Given the description of an element on the screen output the (x, y) to click on. 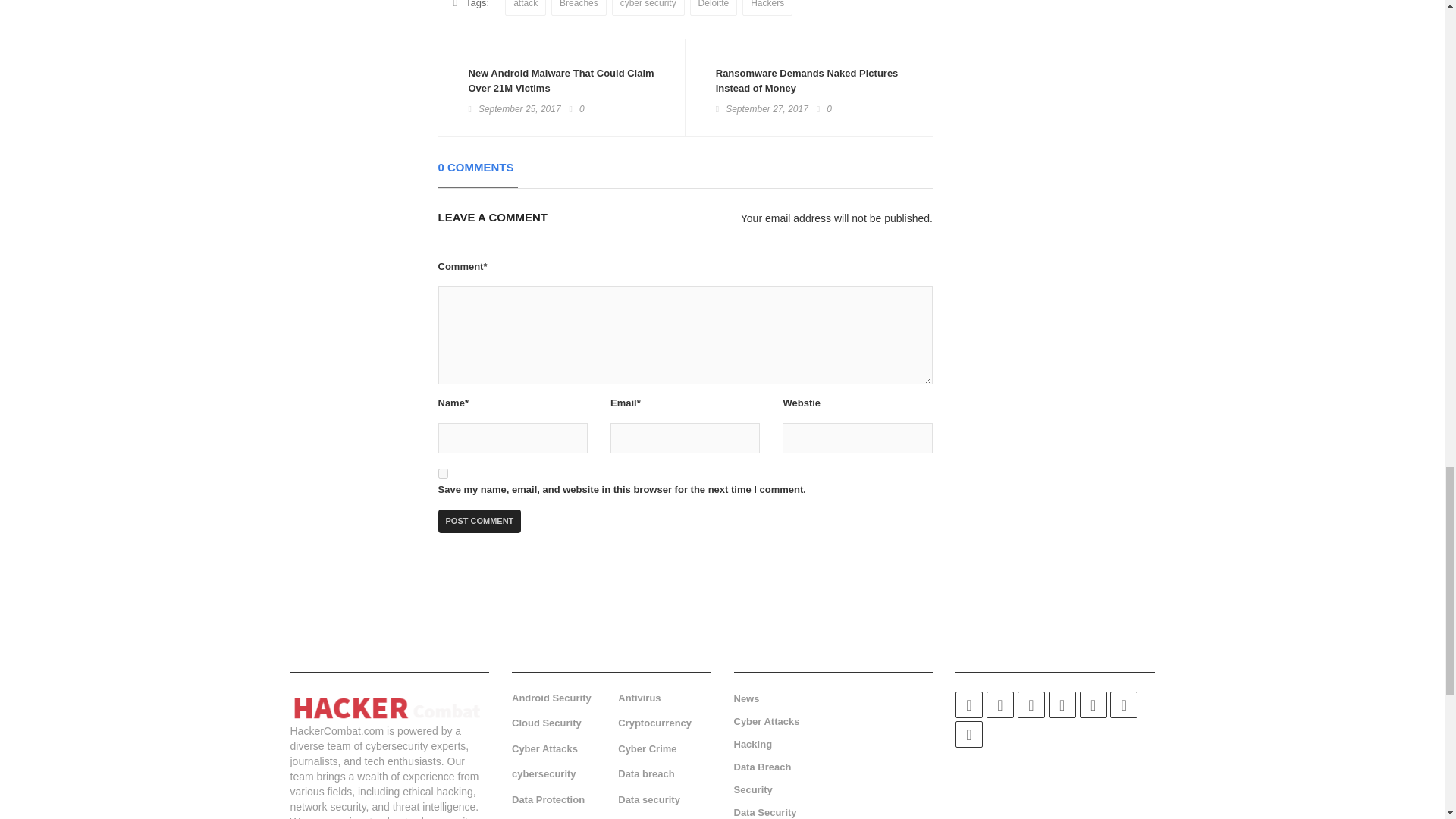
cyber security (647, 7)
Post Comment (479, 521)
yes (443, 473)
attack (525, 7)
Hackers (767, 7)
0 (823, 109)
Post Comment (479, 521)
Deloitte (714, 7)
prev post (809, 81)
0 (577, 109)
Ransomware Demands Naked Pictures Instead of Money (809, 81)
New Android Malware That Could Claim Over 21M Victims (560, 81)
Breaches (579, 7)
prev post (560, 81)
